Given the description of an element on the screen output the (x, y) to click on. 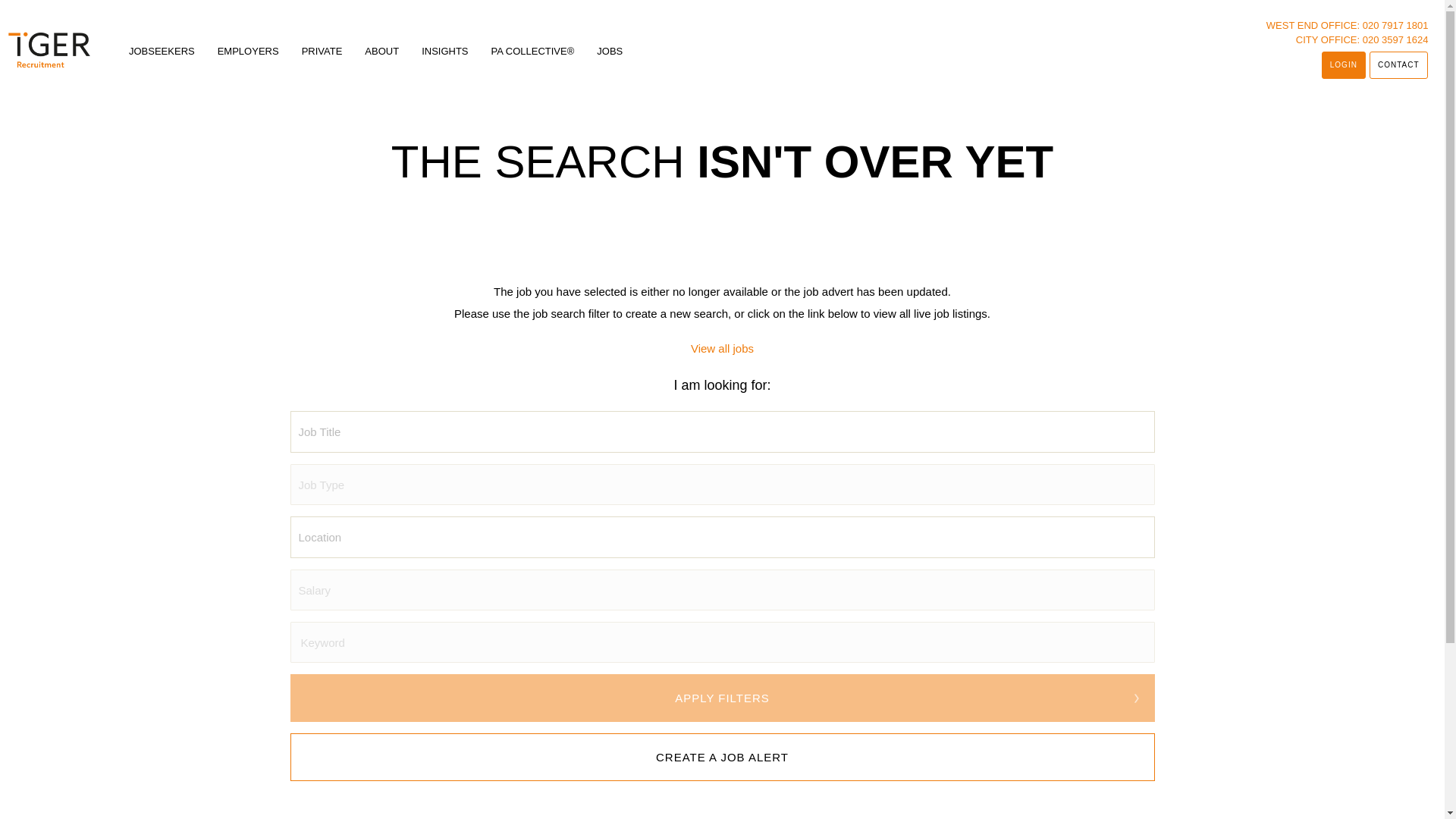
EMPLOYERS (247, 51)
PRIVATE (322, 51)
Tiger Recruitment (48, 48)
ABOUT (381, 51)
Contact (1399, 64)
Login (1343, 64)
JOBSEEKERS (161, 51)
